Given the description of an element on the screen output the (x, y) to click on. 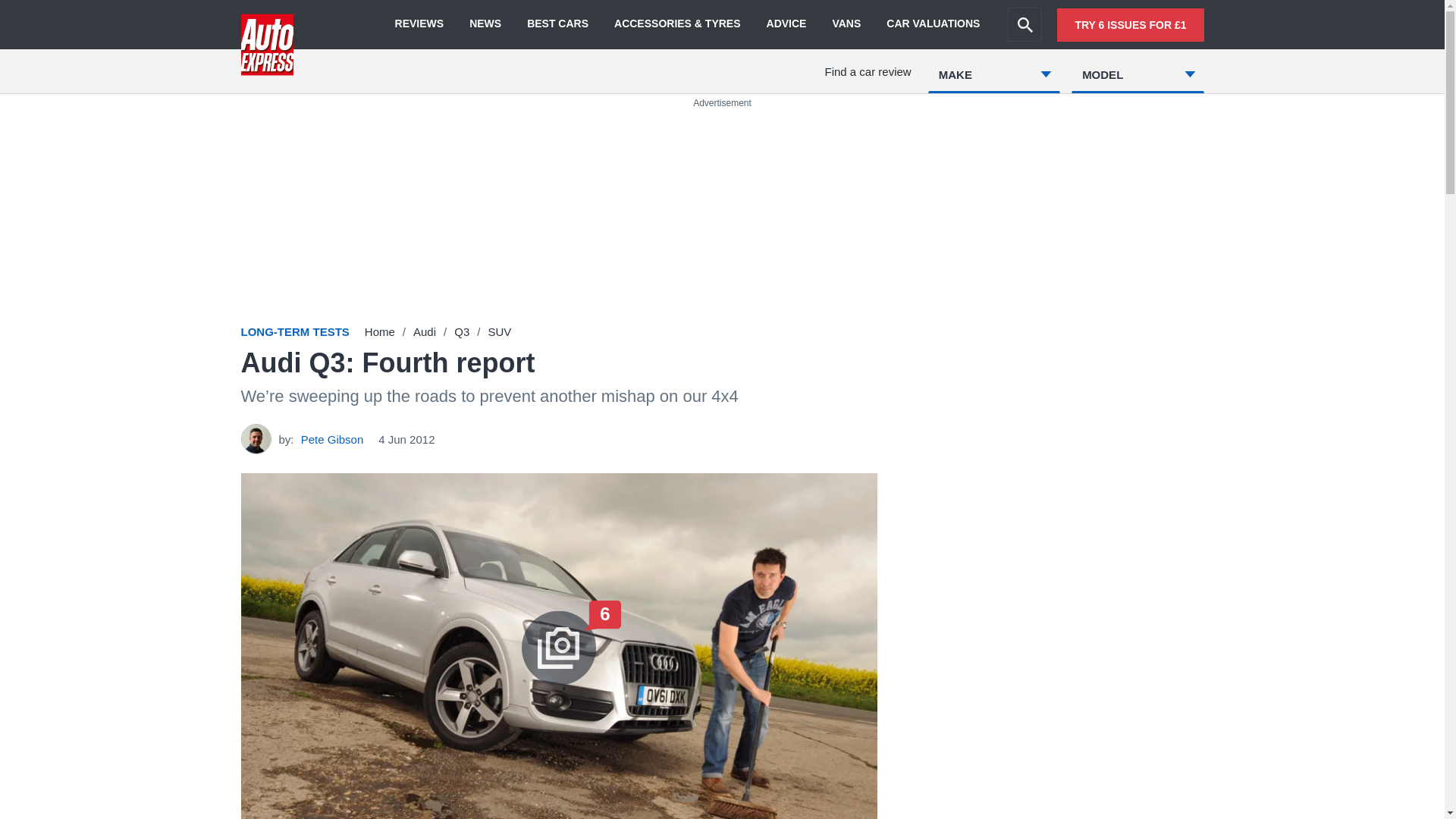
NEWS (485, 24)
Q3 (461, 331)
Audi (424, 331)
ADVICE (786, 24)
BEST CARS (557, 24)
SUV (499, 331)
Search (1024, 24)
CAR VALUATIONS (932, 24)
Pete Gibson (332, 438)
REVIEWS (419, 24)
VANS (845, 24)
Search (1024, 24)
Home (379, 331)
